Given the description of an element on the screen output the (x, y) to click on. 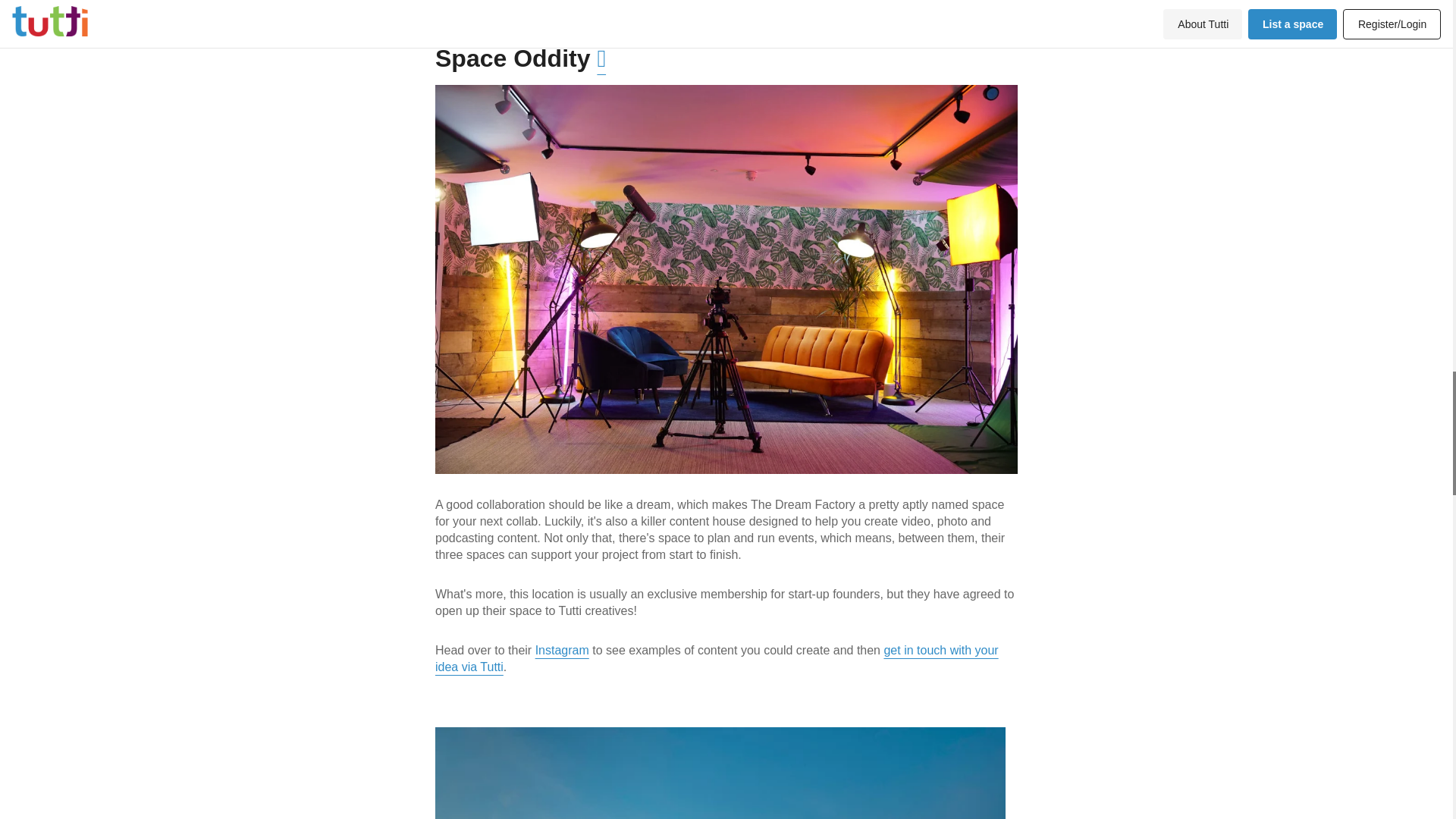
Instagram (562, 649)
get in touch with your idea via Tutti (716, 658)
